Given the description of an element on the screen output the (x, y) to click on. 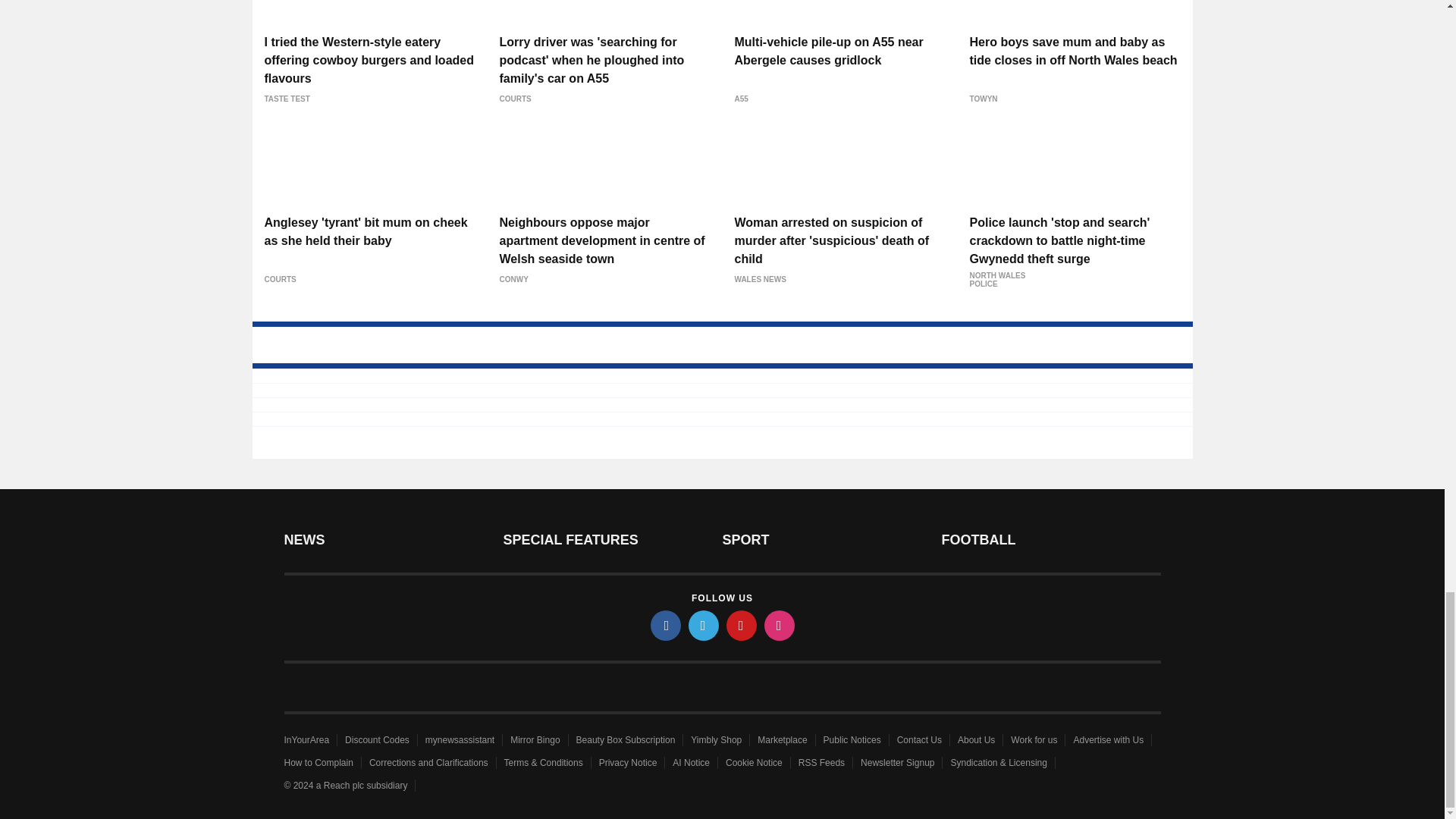
twitter (703, 625)
pinterest (741, 625)
facebook (665, 625)
instagram (779, 625)
